Given the description of an element on the screen output the (x, y) to click on. 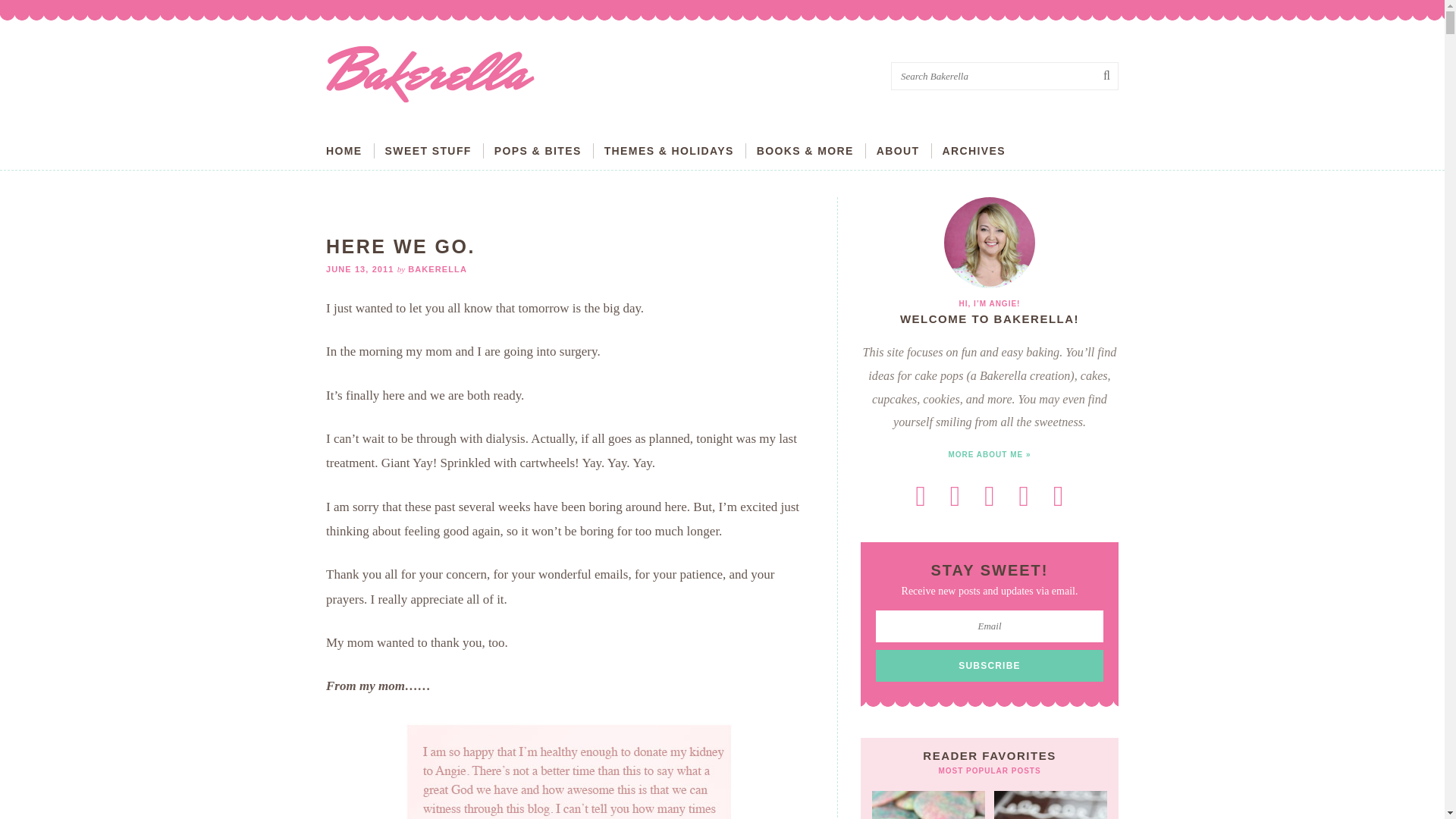
RSS (920, 495)
Untitled-1 (570, 758)
Facebook (989, 495)
HOME (344, 150)
Instagram (1058, 495)
Twitter (955, 495)
Pinterest (1024, 495)
SWEET STUFF (428, 150)
BAKERELLA (437, 268)
ABOUT (897, 150)
